Given the description of an element on the screen output the (x, y) to click on. 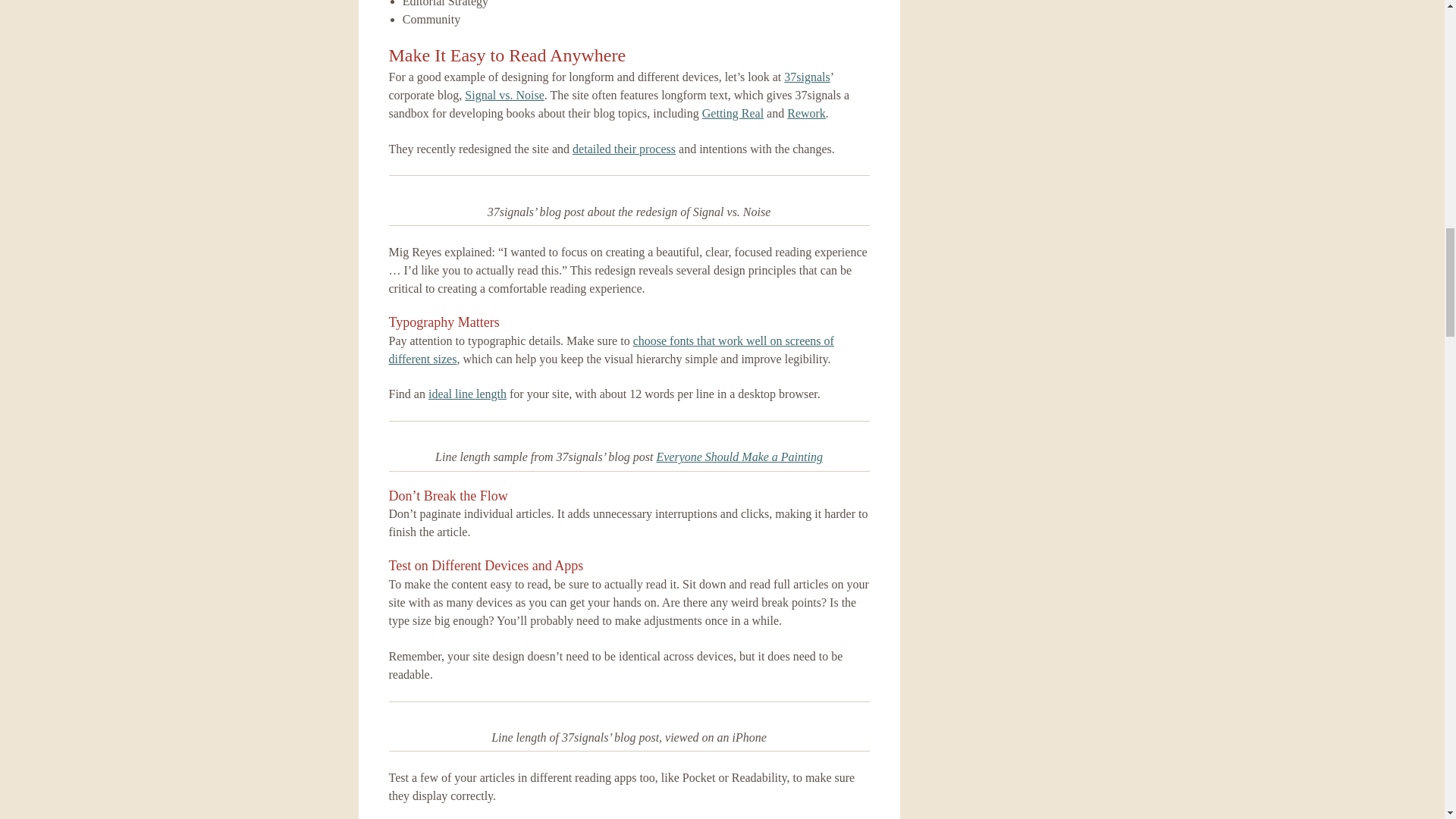
Rework (806, 113)
ideal line length (467, 393)
37signals (806, 76)
Signal vs. Noise (503, 94)
choose fonts that work well on screens of different sizes (610, 349)
Getting Real (731, 113)
Everyone Should Make a Painting (739, 456)
detailed their process (623, 148)
